Given the description of an element on the screen output the (x, y) to click on. 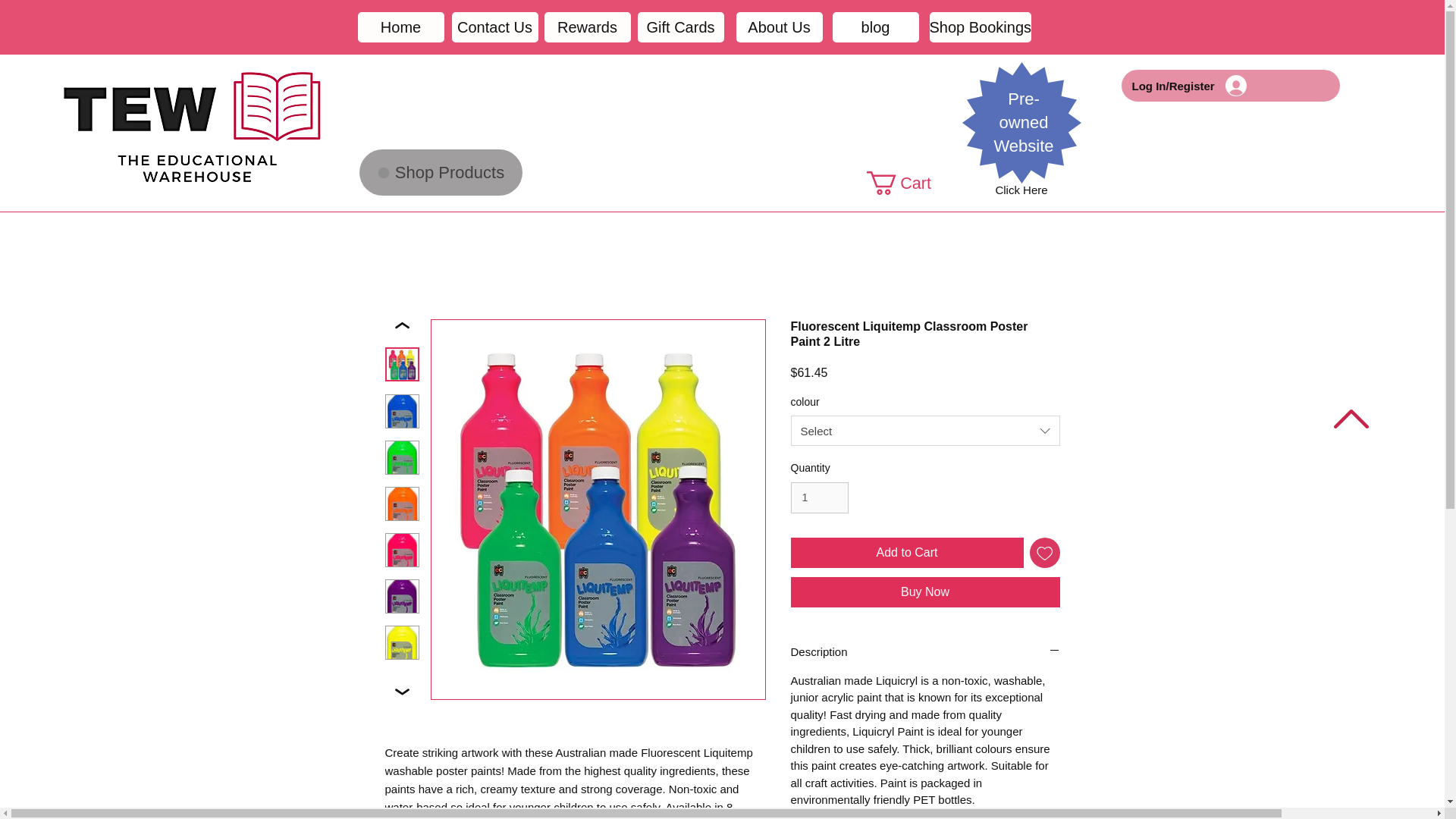
Contact Us (494, 27)
Home (401, 27)
Shop Bookings (981, 27)
Cart (911, 182)
Gift Cards (680, 27)
1 (818, 497)
Shop Products (440, 172)
Rewards (587, 27)
About Us (778, 27)
blog (875, 27)
